Given the description of an element on the screen output the (x, y) to click on. 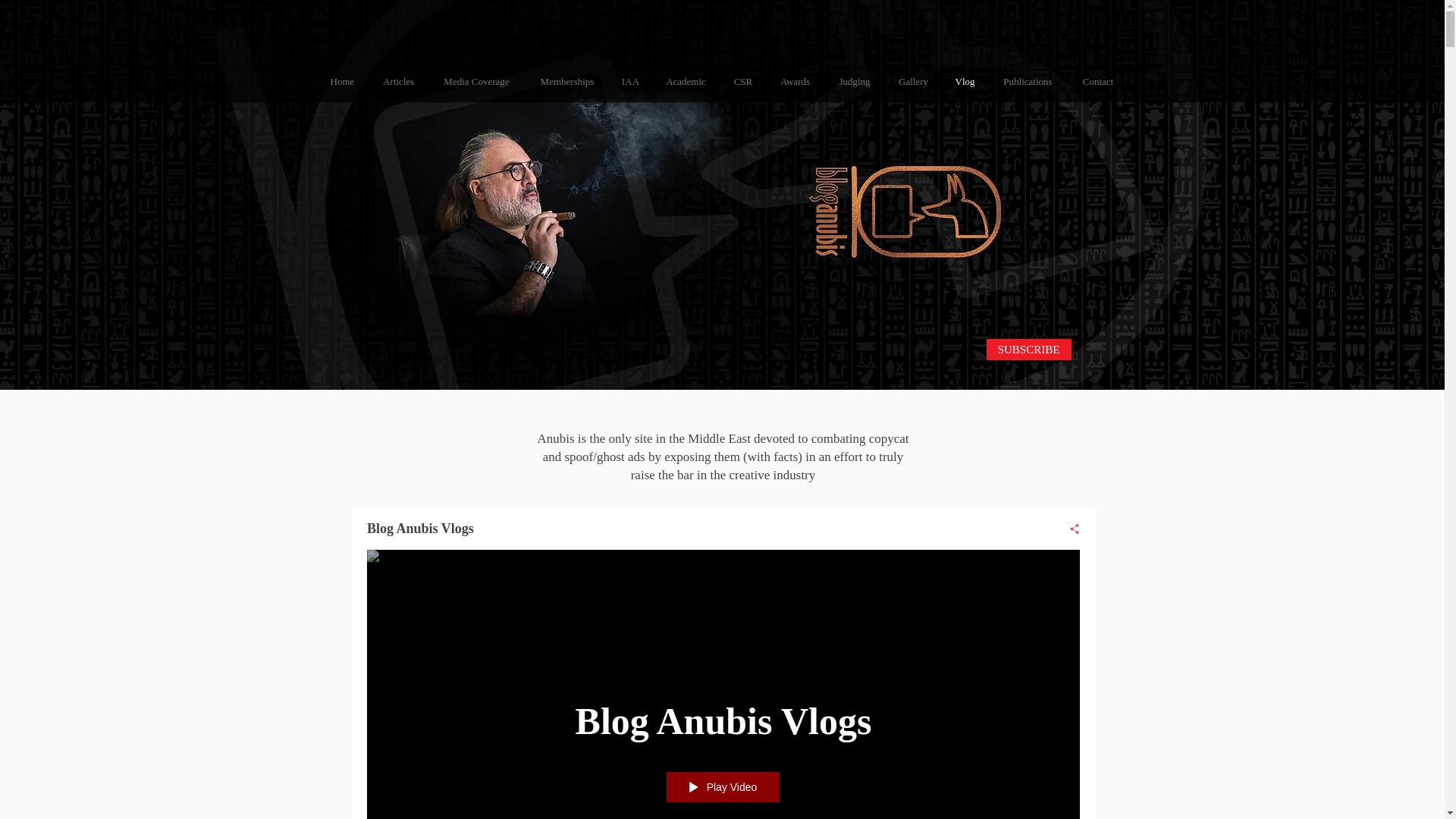
Memberships (567, 81)
Media Coverage (476, 81)
Gallery (912, 81)
Judging (855, 81)
SUBSCRIBE (1027, 349)
Vlog (964, 81)
CSR (742, 81)
Contact (1096, 81)
Articles (398, 81)
Publications (1027, 81)
